Given the description of an element on the screen output the (x, y) to click on. 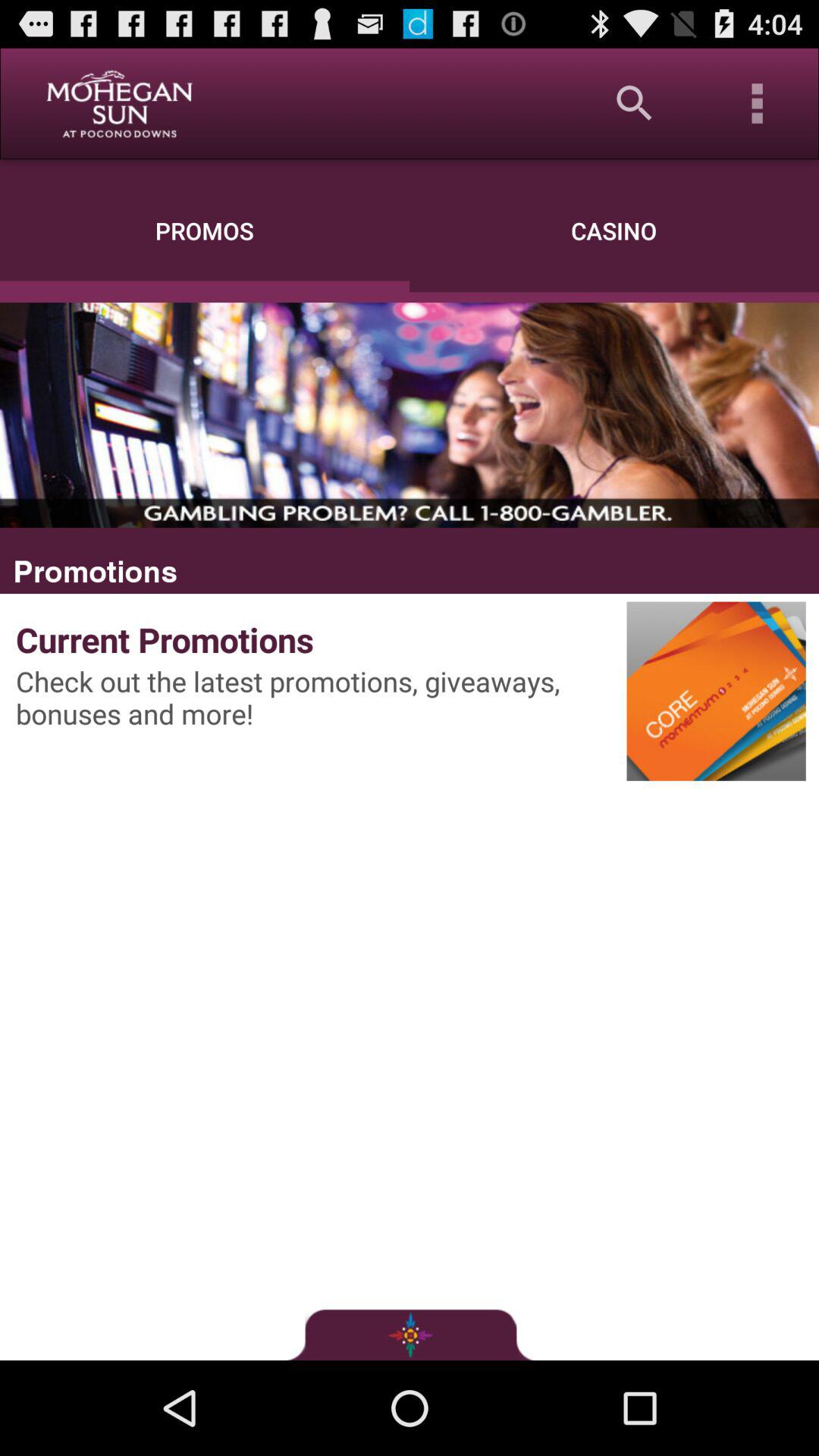
launch app next to the promos icon (634, 103)
